Given the description of an element on the screen output the (x, y) to click on. 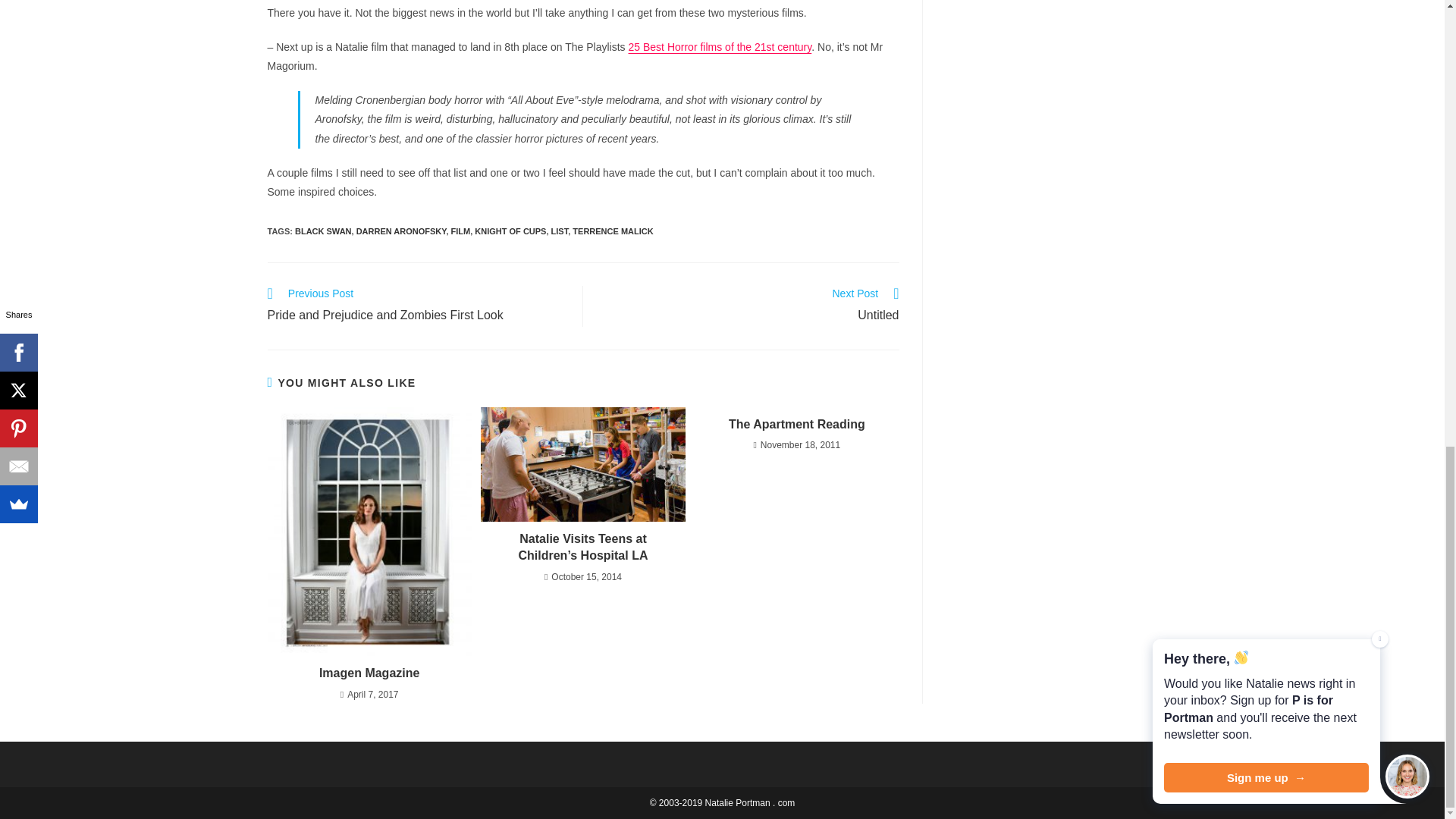
BLACK SWAN (323, 230)
LIST (560, 230)
The Apartment Reading (796, 424)
FILM (460, 230)
Imagen Magazine (748, 305)
KNIGHT OF CUPS (368, 673)
DARREN ARONOFSKY (416, 305)
25 Best Horror films of the 21st century (510, 230)
TERRENCE MALICK (401, 230)
